Given the description of an element on the screen output the (x, y) to click on. 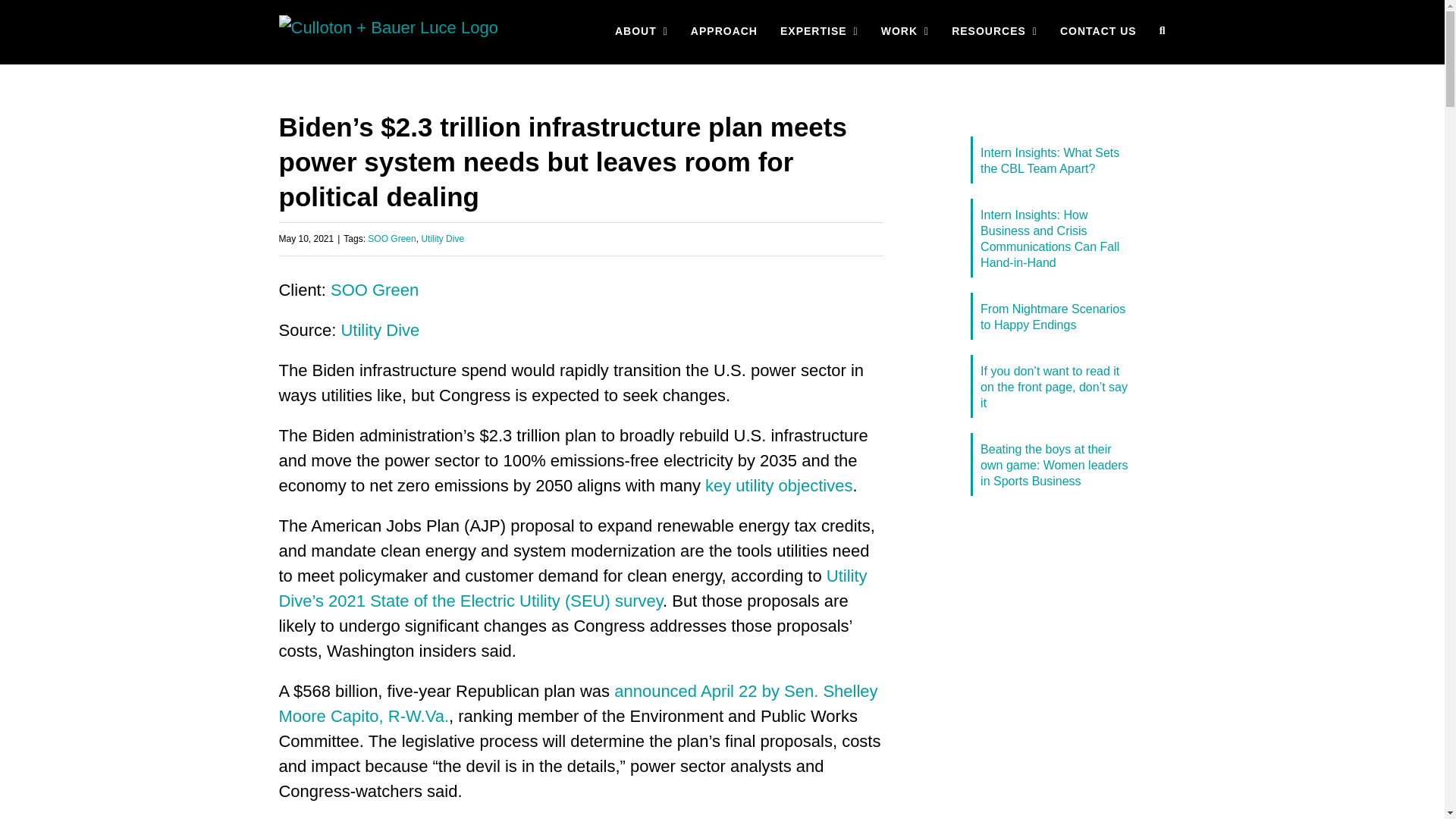
CONTACT US (1098, 30)
EXPERTISE (819, 30)
RESOURCES (994, 30)
APPROACH (723, 30)
